Given the description of an element on the screen output the (x, y) to click on. 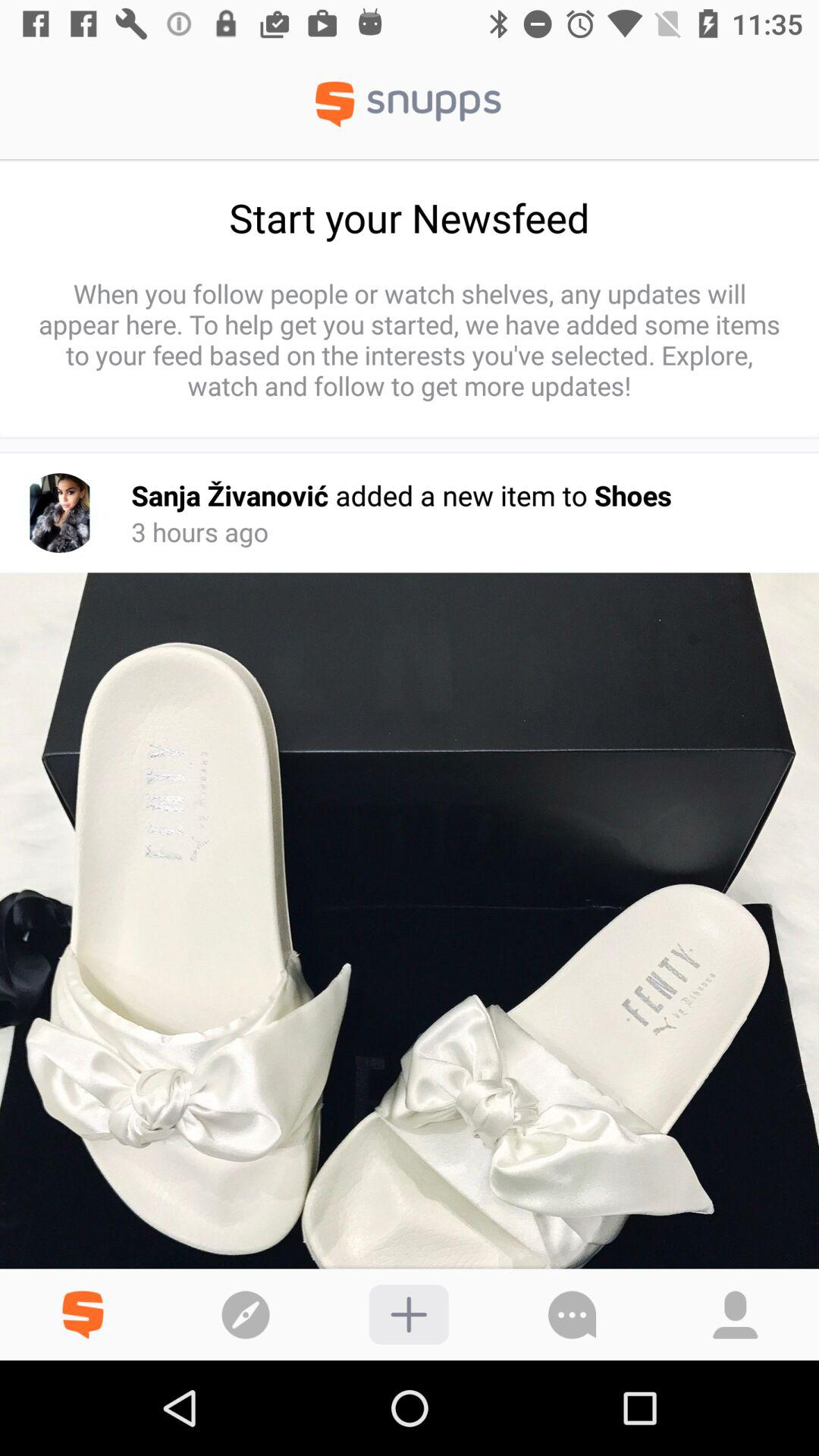
add to list (408, 1314)
